Given the description of an element on the screen output the (x, y) to click on. 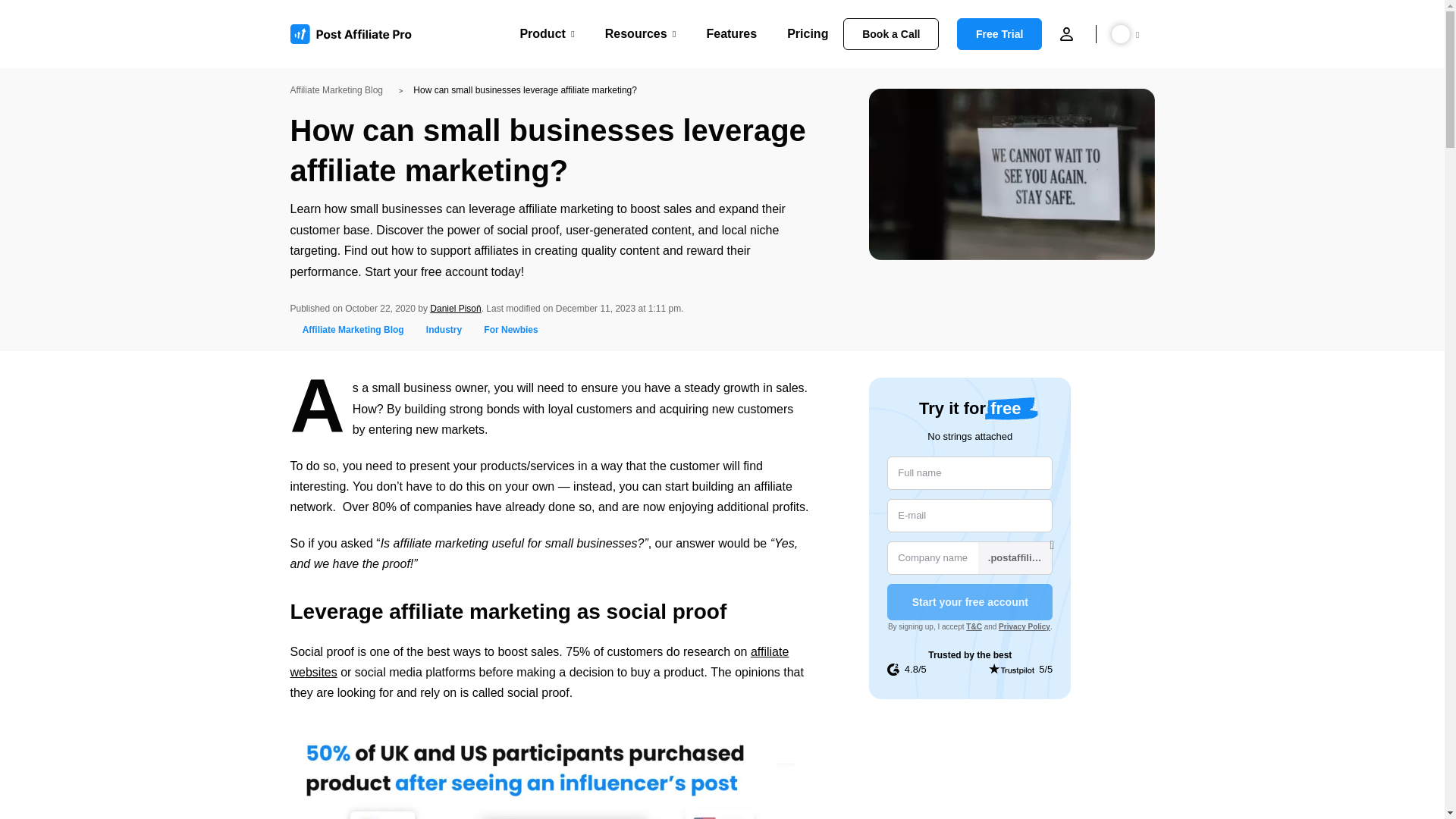
Features (731, 33)
PostAffiliatePro affiliate software (355, 34)
Product (546, 33)
Pricing (807, 33)
Resources (641, 33)
